Given the description of an element on the screen output the (x, y) to click on. 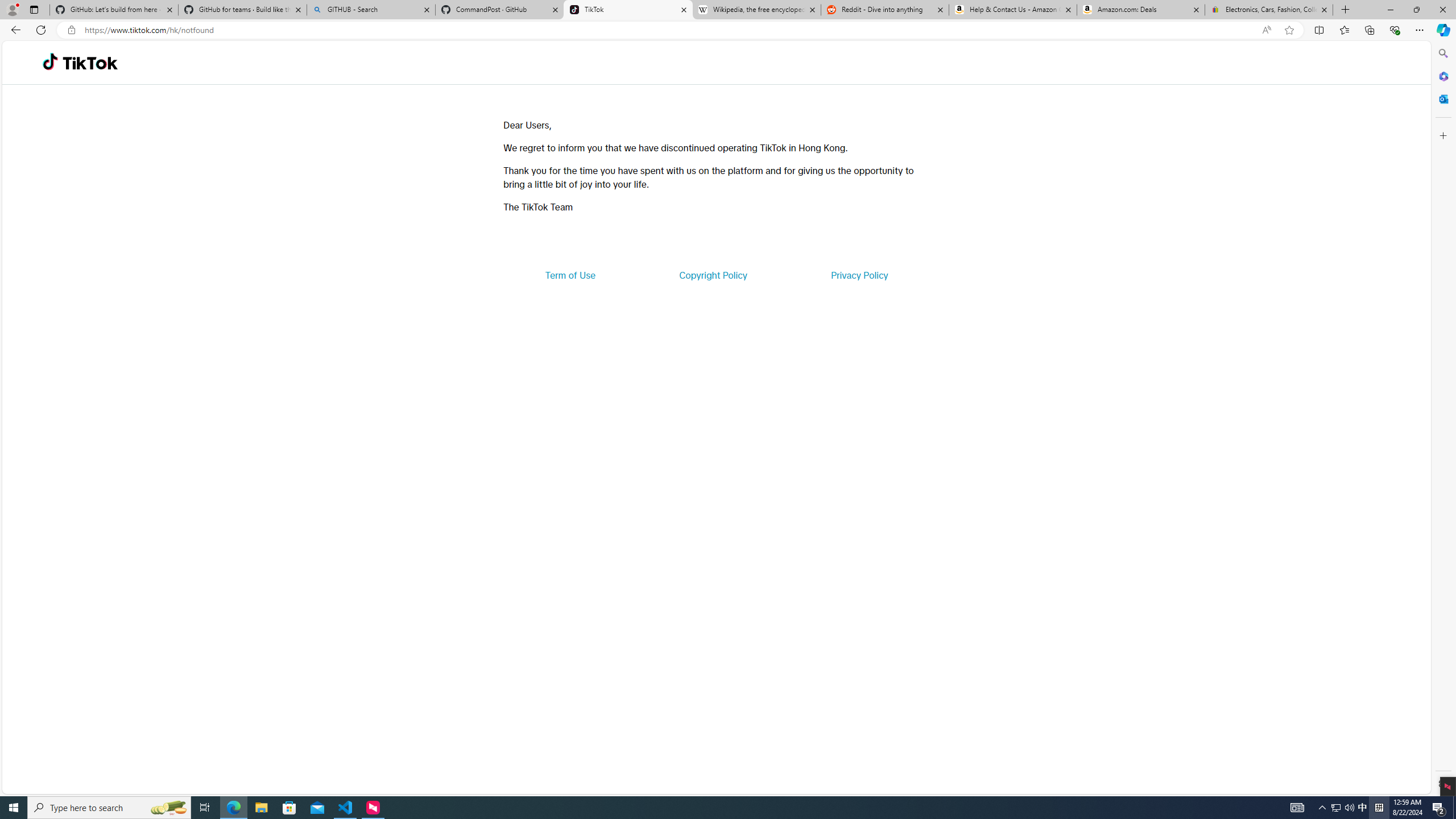
TikTok (628, 9)
Term of Use (569, 274)
Side bar (1443, 418)
Help & Contact Us - Amazon Customer Service (1012, 9)
Close Outlook pane (1442, 98)
